Given the description of an element on the screen output the (x, y) to click on. 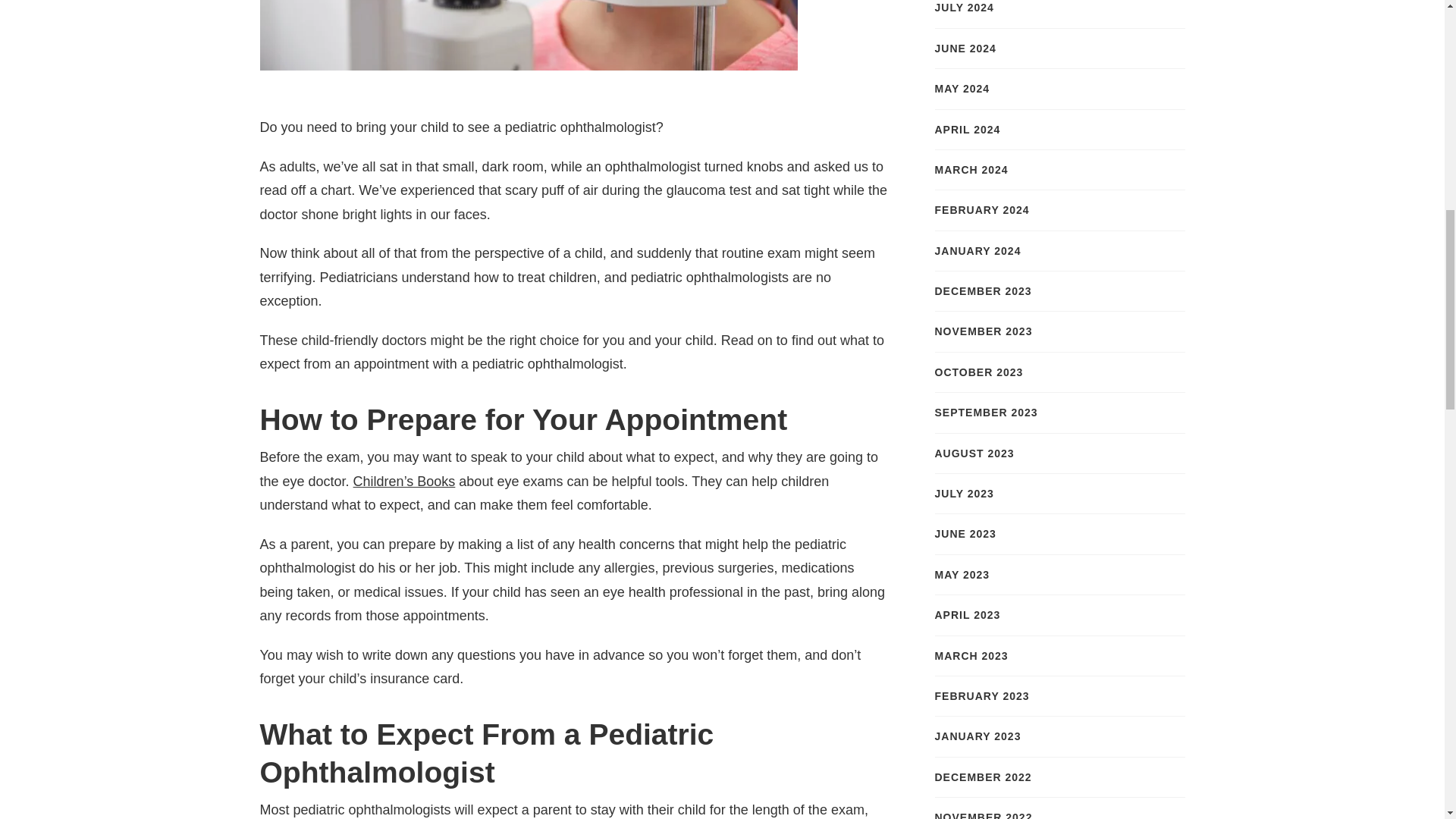
JULY 2024 (963, 7)
JUNE 2024 (964, 48)
MAY 2024 (962, 88)
